Given the description of an element on the screen output the (x, y) to click on. 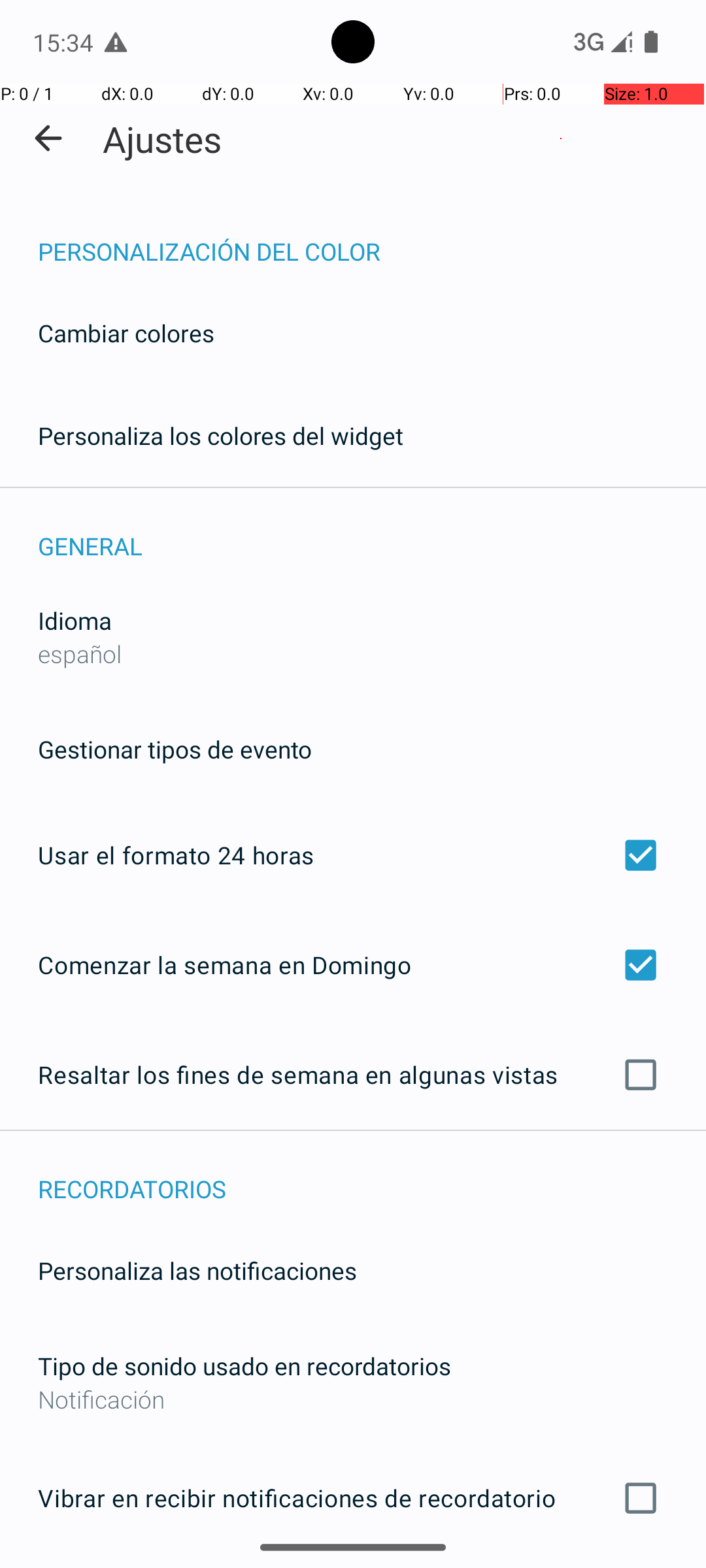
Ajustes Element type: android.widget.TextView (161, 138)
PERSONALIZACIÓN DEL COLOR Element type: android.widget.TextView (371, 237)
GENERAL Element type: android.widget.TextView (371, 532)
RECORDATORIOS Element type: android.widget.TextView (371, 1174)
Cambiar colores Element type: android.widget.TextView (125, 332)
Personaliza los colores del widget Element type: android.widget.TextView (220, 435)
Idioma Element type: android.widget.TextView (74, 620)
español Element type: android.widget.TextView (79, 653)
Gestionar tipos de evento Element type: android.widget.TextView (174, 748)
Usar el formato 24 horas Element type: android.widget.CheckBox (352, 855)
Comenzar la semana en Domingo Element type: android.widget.CheckBox (352, 964)
Resaltar los fines de semana en algunas vistas Element type: android.widget.CheckBox (352, 1074)
Personaliza las notificaciones Element type: android.widget.TextView (196, 1270)
Tipo de sonido usado en recordatorios Element type: android.widget.TextView (244, 1365)
Notificación Element type: android.widget.TextView (352, 1398)
Vibrar en recibir notificaciones de recordatorio Element type: android.widget.CheckBox (352, 1497)
Repetir recordatorios hasta ser descartados Element type: android.widget.CheckBox (352, 1567)
